Given the description of an element on the screen output the (x, y) to click on. 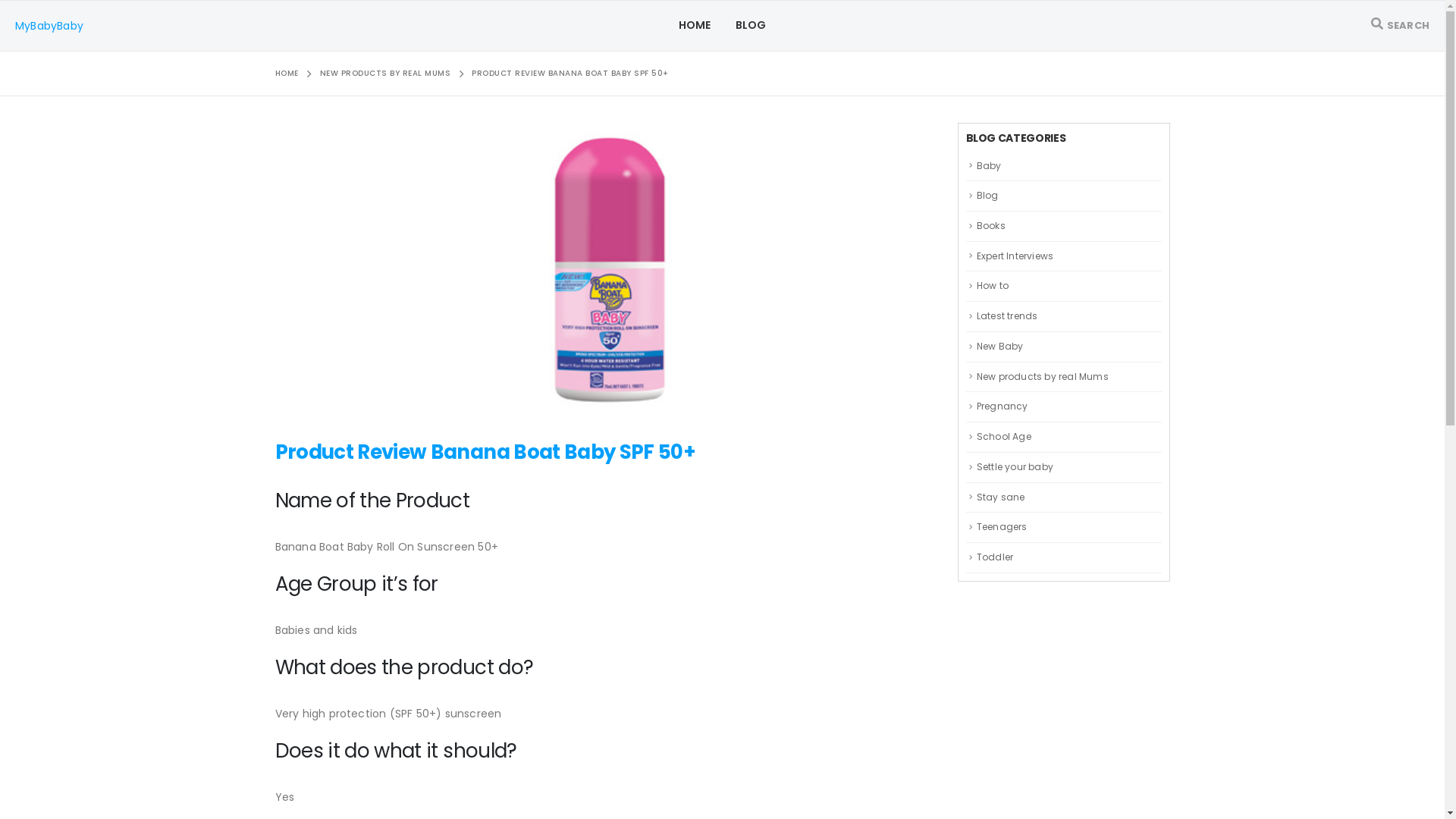
HOME Element type: text (286, 73)
Baby Element type: text (988, 165)
HOME Element type: text (694, 25)
New Baby Element type: text (999, 345)
Settle your baby Element type: text (1014, 466)
Latest trends Element type: text (1007, 315)
Stay sane Element type: text (1000, 495)
Expert Interviews Element type: text (1014, 255)
NEW PRODUCTS BY REAL MUMS Element type: text (385, 73)
How to Element type: text (992, 285)
Books Element type: text (990, 225)
SEARCH Element type: text (1400, 25)
School Age Element type: text (1003, 435)
Pregnancy Element type: text (1002, 405)
BLOG Element type: text (750, 25)
Teenagers Element type: text (1001, 526)
New products by real Mums Element type: text (1042, 376)
Toddler Element type: text (994, 556)
Blog Element type: text (987, 194)
